Given the description of an element on the screen output the (x, y) to click on. 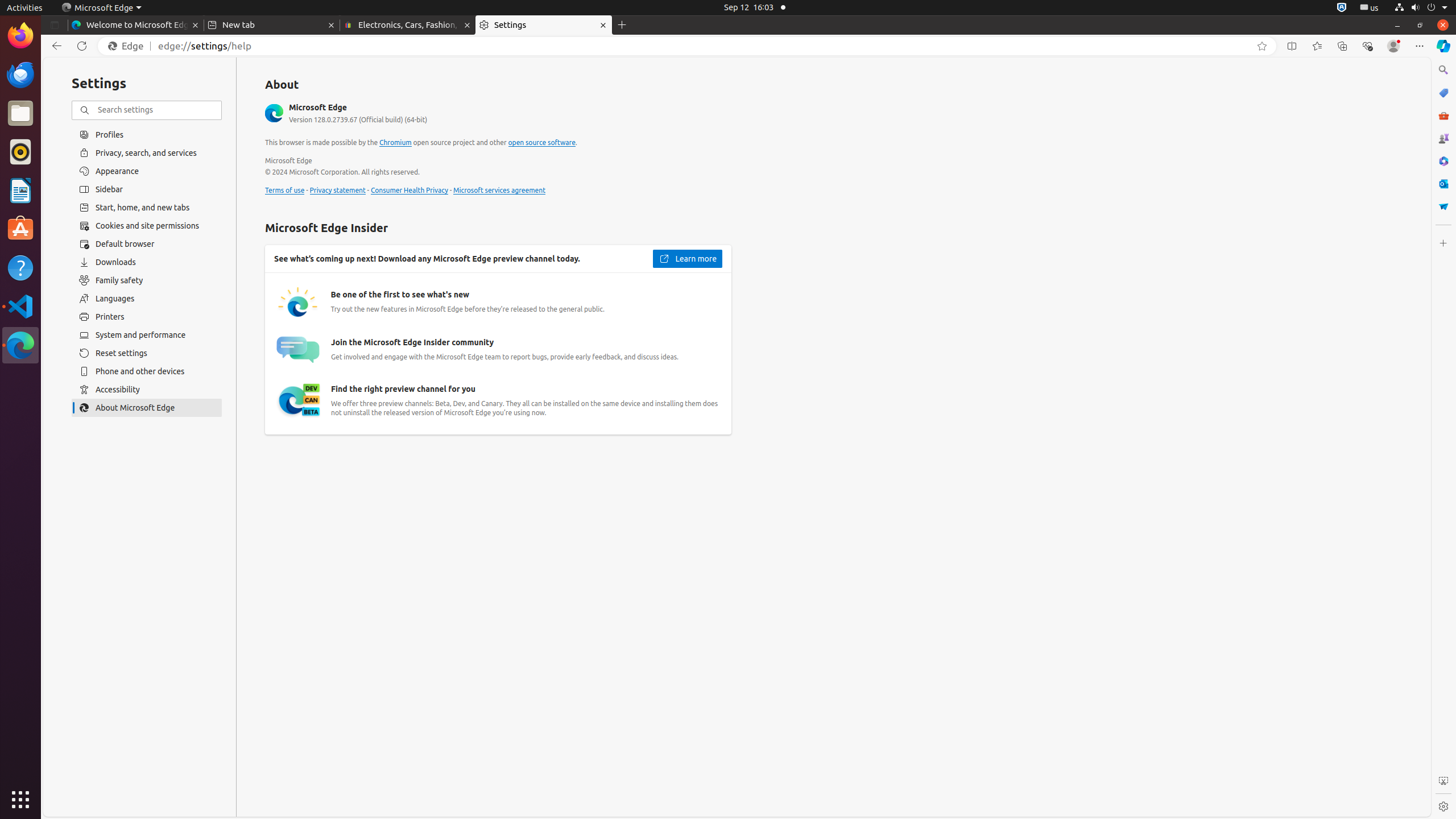
Terms of use Element type: link (284, 190)
Copilot (Ctrl+Shift+.) Element type: push-button (1443, 45)
Privacy, search, and services Element type: tree-item (146, 152)
Languages Element type: tree-item (146, 298)
Games Element type: push-button (1443, 137)
